Given the description of an element on the screen output the (x, y) to click on. 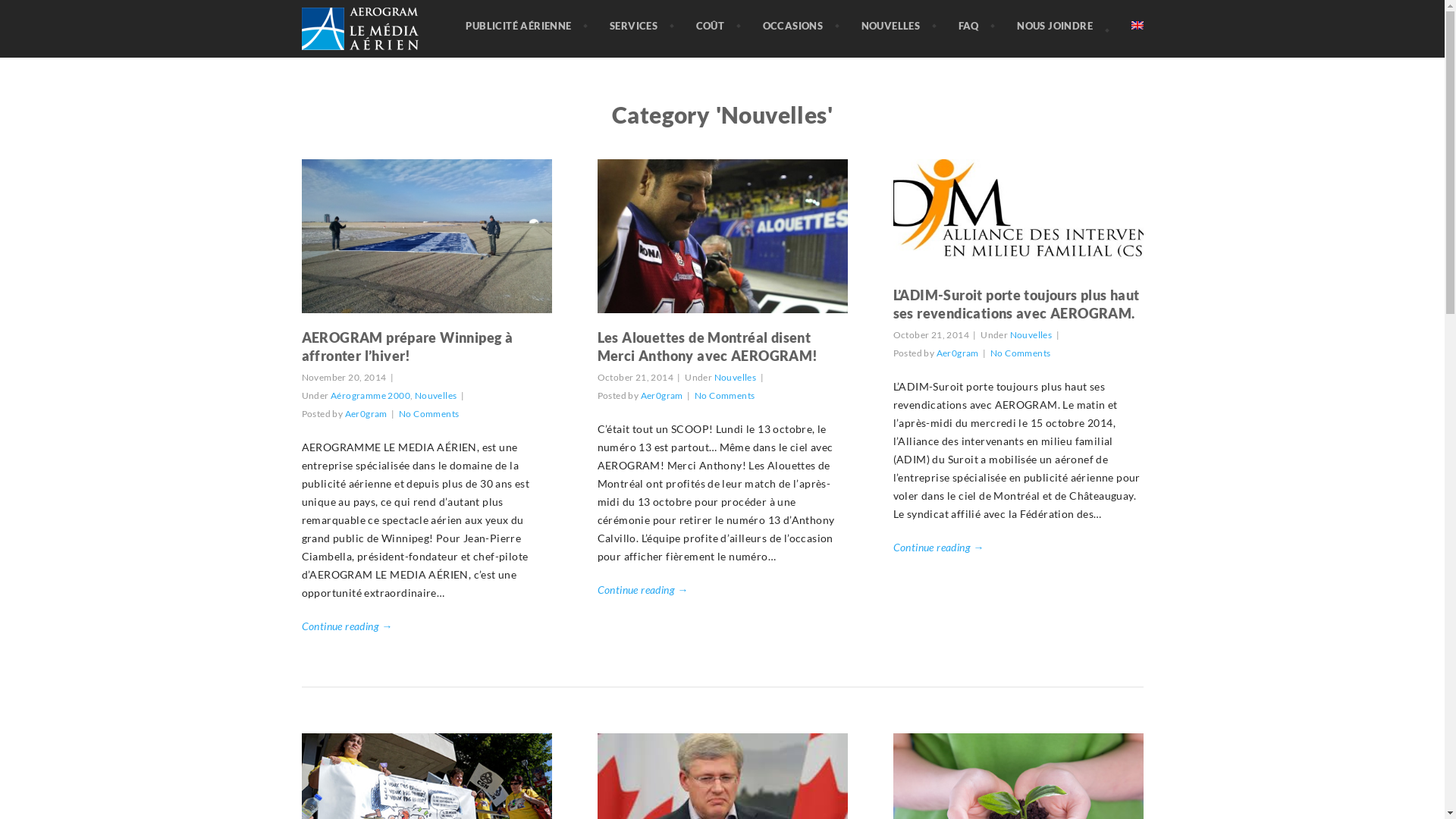
No Comments Element type: text (1020, 352)
NOUS JOINDRE Element type: text (1054, 25)
No Comments Element type: text (428, 413)
No Comments Element type: text (724, 395)
Nouvelles Element type: text (735, 376)
FAQ Element type: text (968, 25)
Aer0gram Element type: text (957, 352)
Nouvelles Element type: text (1031, 334)
OCCASIONS Element type: text (792, 25)
NOUVELLES Element type: text (890, 25)
Nouvelles Element type: text (435, 395)
SERVICES Element type: text (633, 25)
Aer0gram Element type: text (366, 413)
Aer0gram Element type: text (661, 395)
